Given the description of an element on the screen output the (x, y) to click on. 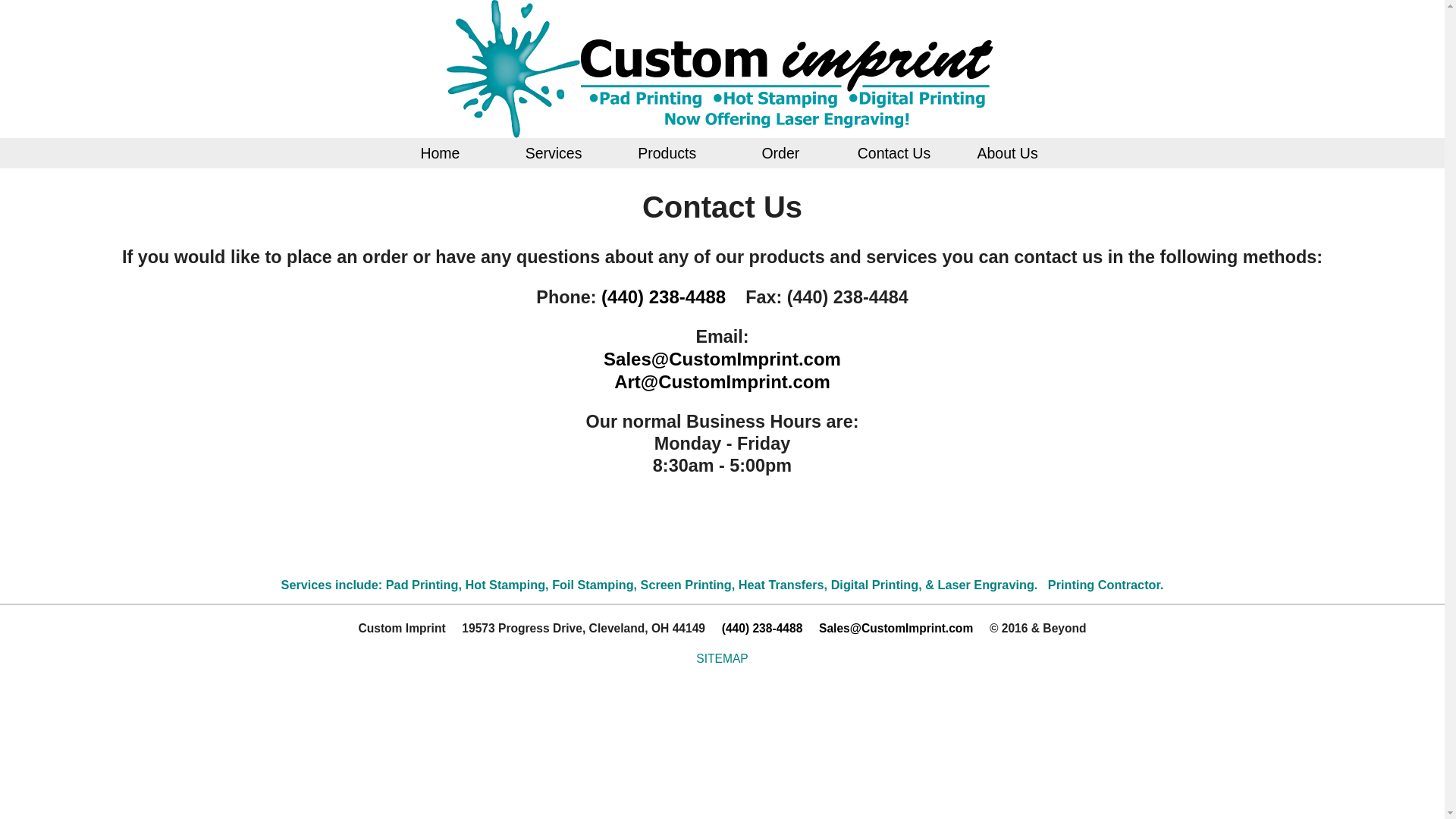
SITEMAP (721, 658)
Order (780, 153)
Products (666, 153)
About Us (1007, 153)
Home (439, 153)
Contact Us (893, 153)
Services (553, 153)
